Given the description of an element on the screen output the (x, y) to click on. 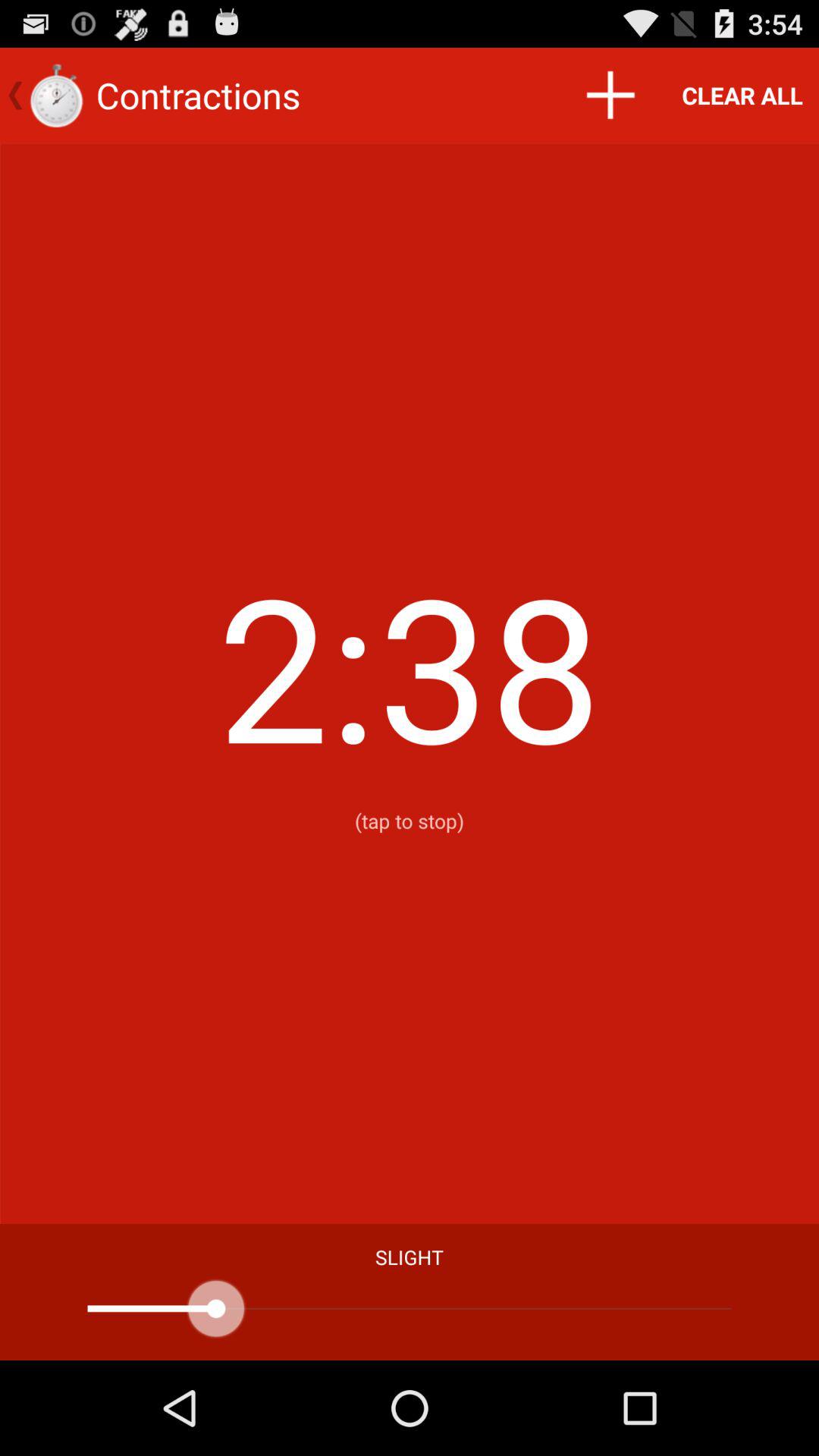
choose the icon to the left of the clear all (610, 95)
